Given the description of an element on the screen output the (x, y) to click on. 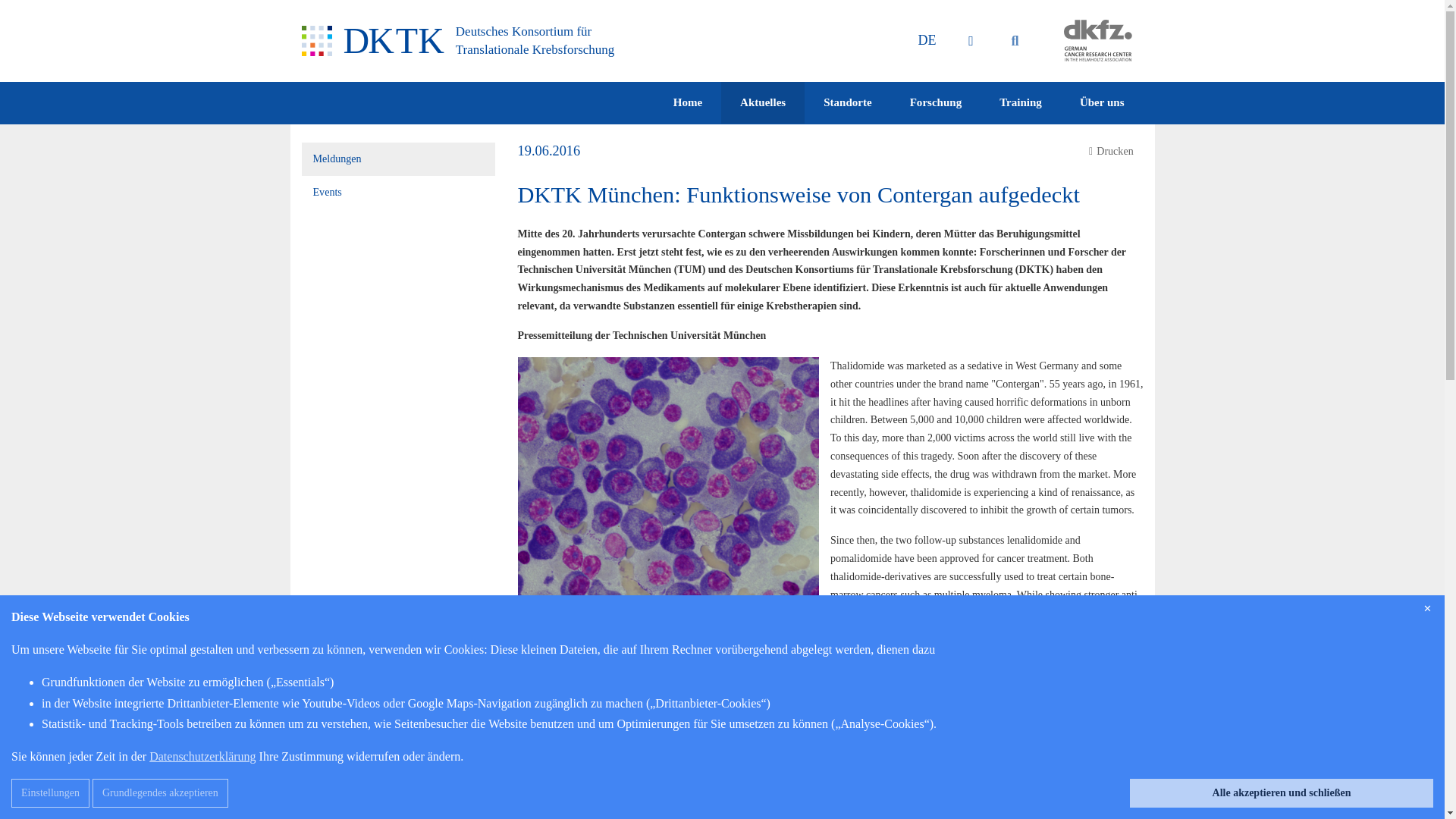
Standorte (847, 102)
Forschung (936, 102)
DE (927, 40)
Home (686, 102)
Aktuelles (762, 102)
Training (1020, 102)
